Given the description of an element on the screen output the (x, y) to click on. 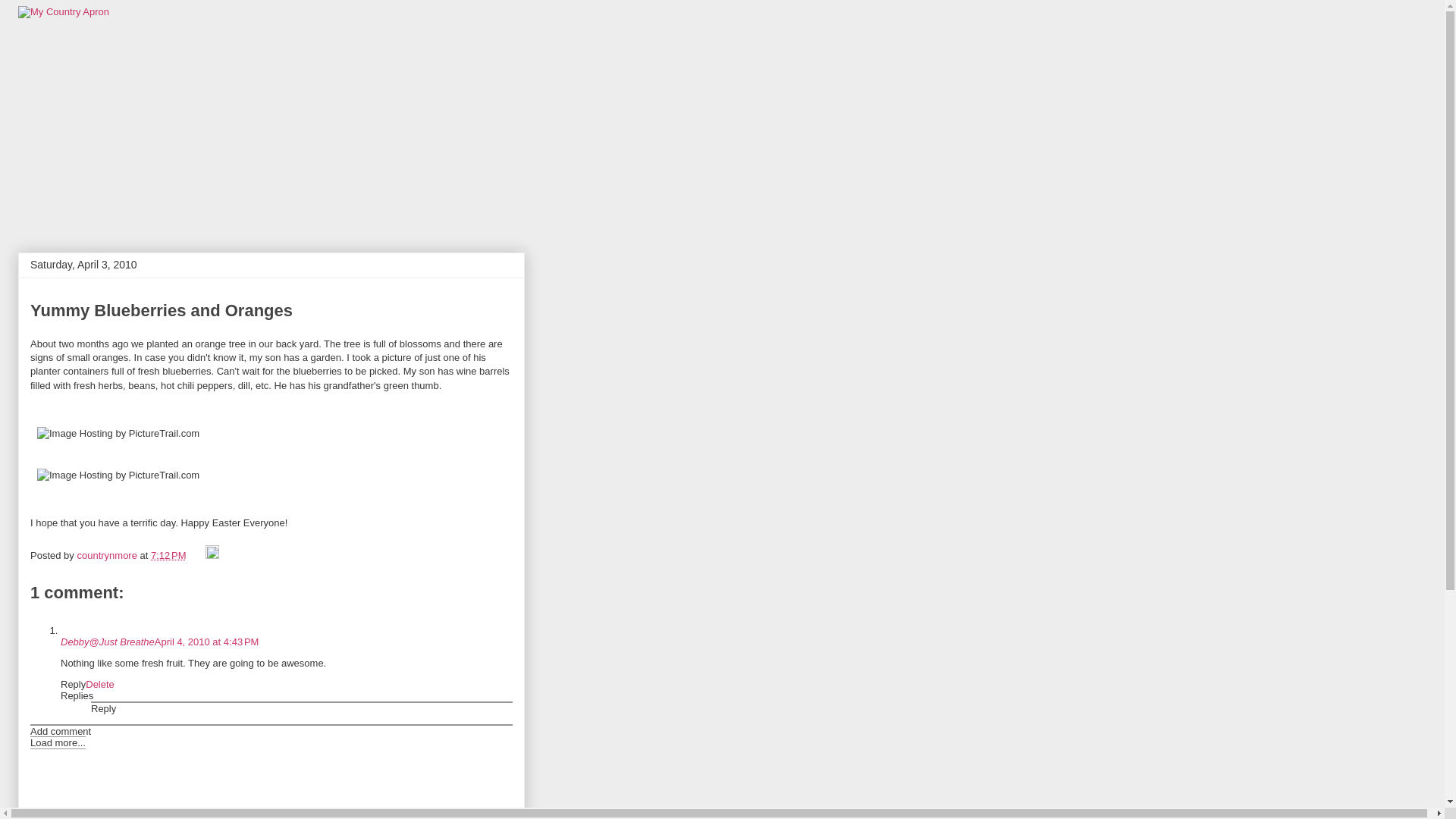
Replies (77, 695)
Load more... (57, 742)
author profile (108, 555)
Reply (103, 708)
Email Post (197, 555)
Reply (73, 684)
permanent link (168, 555)
Delete (100, 684)
